Given the description of an element on the screen output the (x, y) to click on. 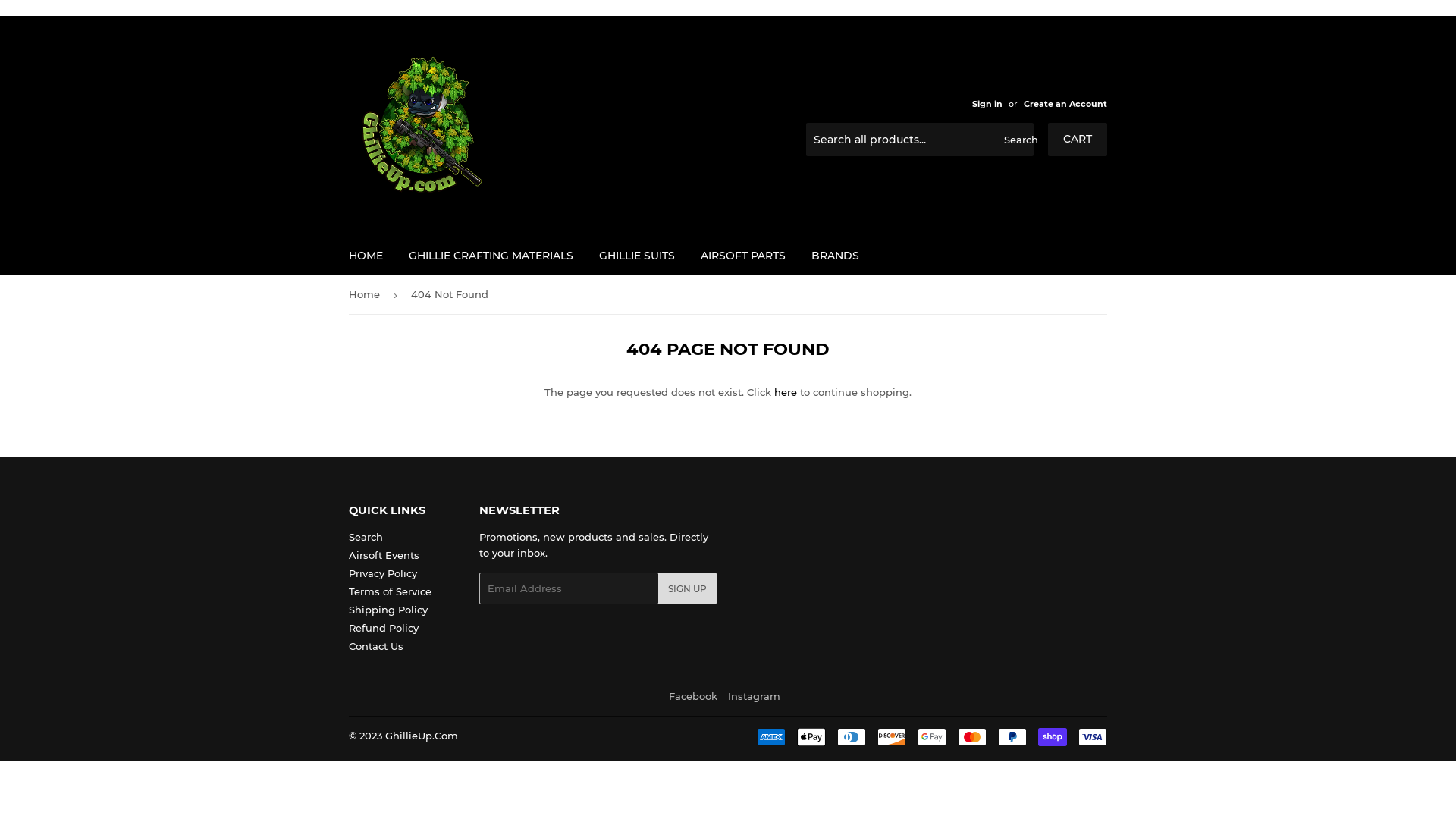
CART Element type: text (1077, 139)
GHILLIE SUITS Element type: text (636, 255)
BRANDS Element type: text (835, 255)
Create an Account Element type: text (1065, 103)
Search Element type: text (1016, 140)
GhillieUp.Com Element type: text (421, 735)
Search Element type: text (365, 536)
Shipping Policy Element type: text (387, 609)
Facebook Element type: text (692, 696)
Privacy Policy Element type: text (382, 573)
GHILLIE CRAFTING MATERIALS Element type: text (490, 255)
Contact Us Element type: text (375, 646)
here Element type: text (785, 391)
AIRSOFT PARTS Element type: text (743, 255)
Home Element type: text (366, 294)
Terms of Service Element type: text (389, 591)
HOME Element type: text (365, 255)
Instagram Element type: text (754, 696)
Refund Policy Element type: text (383, 627)
Sign in Element type: text (987, 103)
SIGN UP Element type: text (687, 588)
Airsoft Events Element type: text (383, 555)
